Given the description of an element on the screen output the (x, y) to click on. 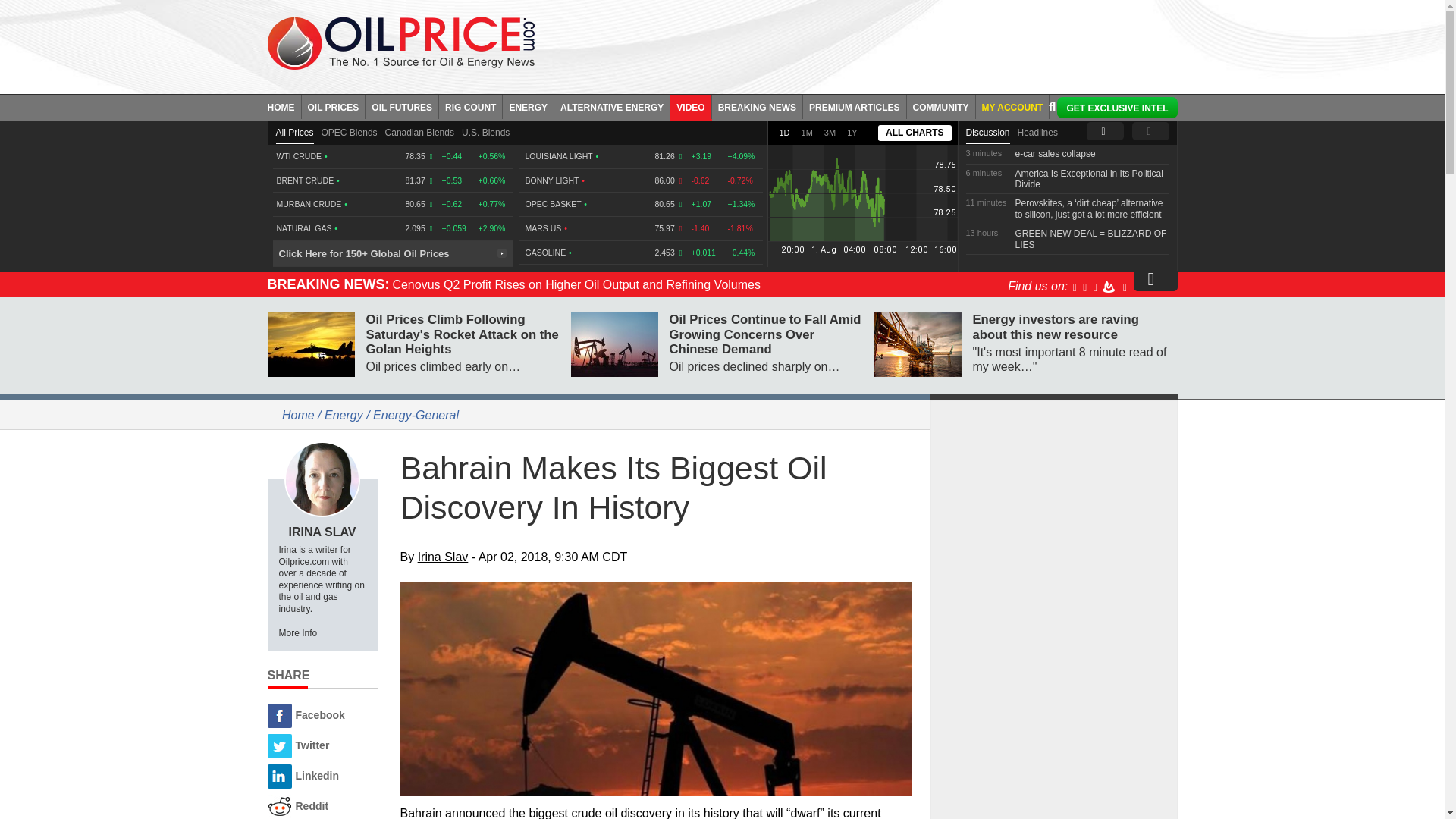
Oil prices - Oilprice.com (400, 42)
OIL PRICES (333, 106)
ALTERNATIVE ENERGY (611, 106)
RIG COUNT (470, 106)
MY ACCOUNT (1012, 106)
VIDEO (690, 106)
Irina Slav (321, 478)
OIL FUTURES (402, 106)
ENERGY (528, 106)
PREMIUM ARTICLES (855, 106)
BREAKING NEWS (757, 106)
Bahrain oil (656, 689)
HOME (283, 106)
COMMUNITY (941, 106)
